Given the description of an element on the screen output the (x, y) to click on. 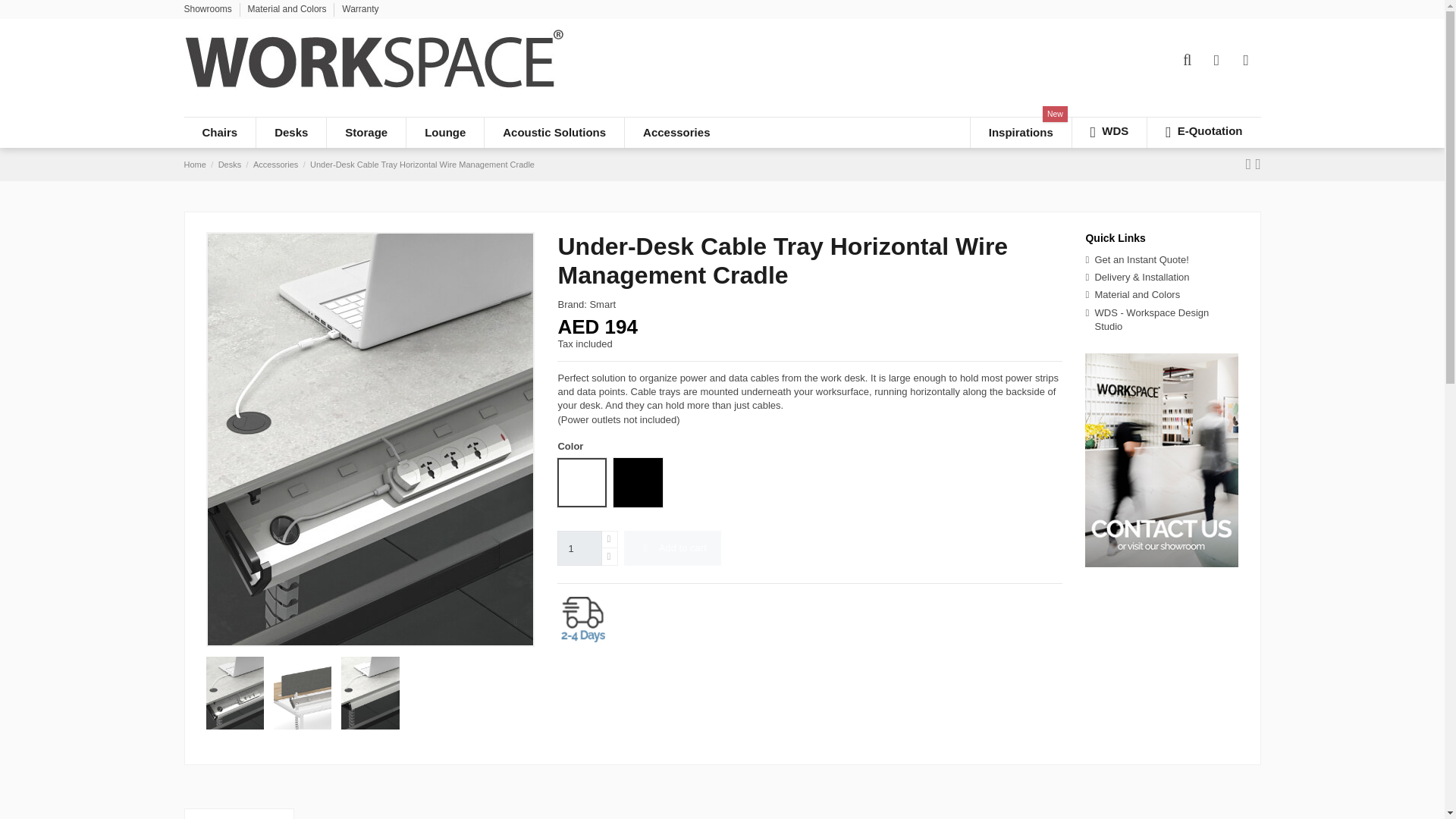
Accessories (676, 132)
Acoustic Solutions (553, 132)
E-Quotation (1203, 132)
Storage (366, 132)
WDS (1109, 132)
Desks (291, 132)
Lounge (444, 132)
Log in to your customer account (1217, 60)
Material and Colors (288, 9)
Warranty (360, 9)
